Given the description of an element on the screen output the (x, y) to click on. 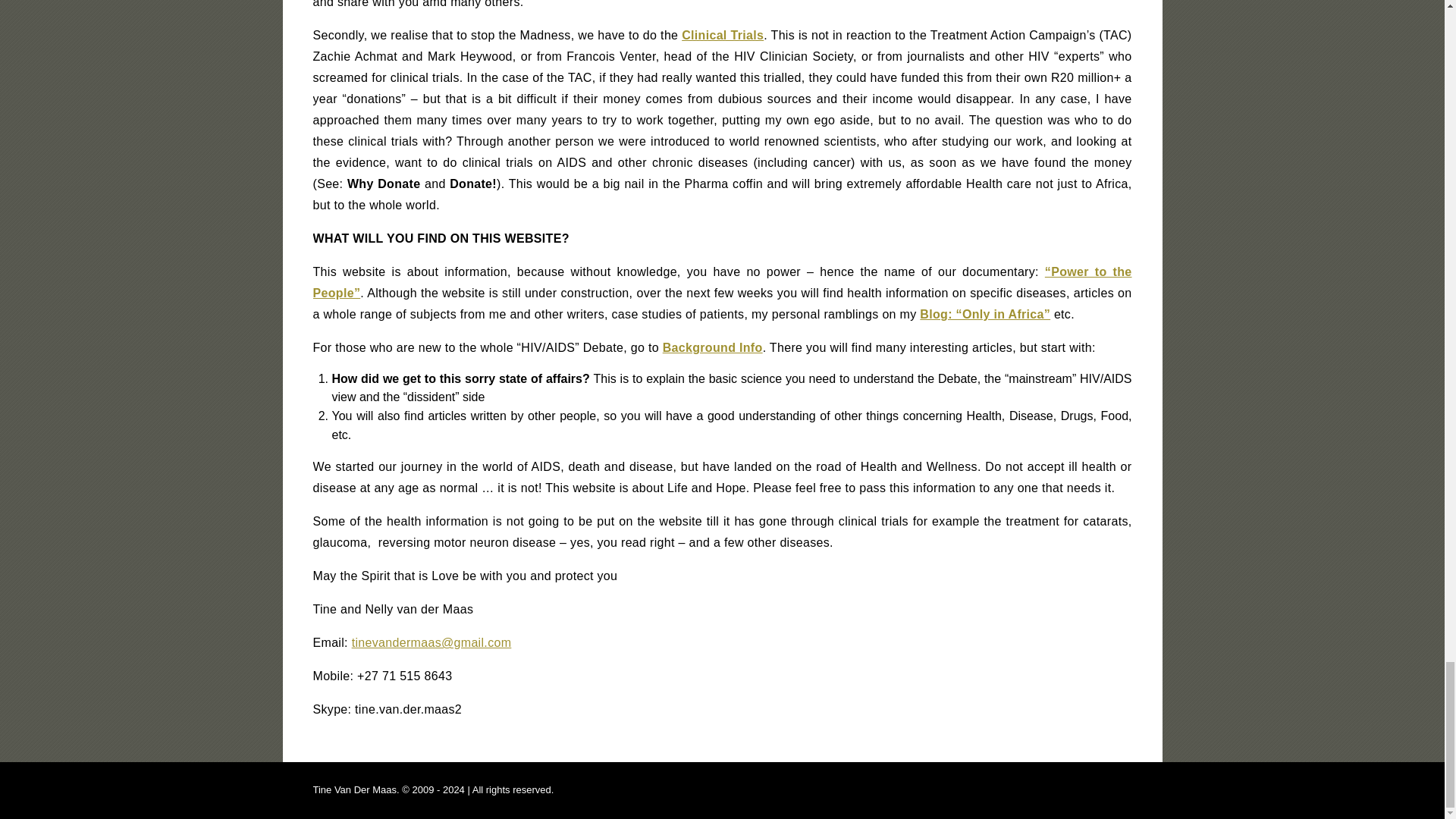
Clinical Trials (721, 34)
Background Info (712, 347)
